Given the description of an element on the screen output the (x, y) to click on. 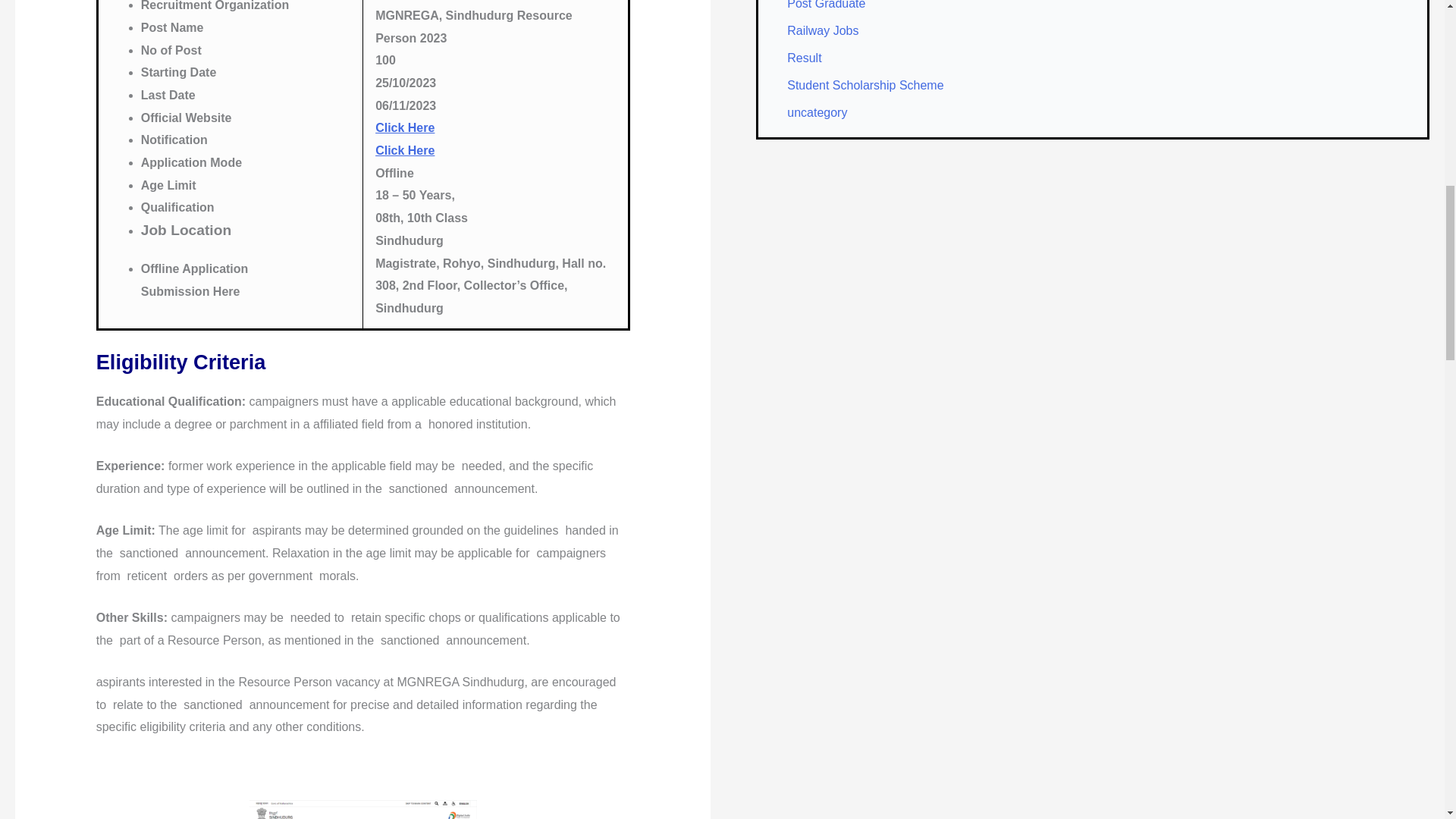
Click Here (404, 150)
Click Here (404, 127)
